Given the description of an element on the screen output the (x, y) to click on. 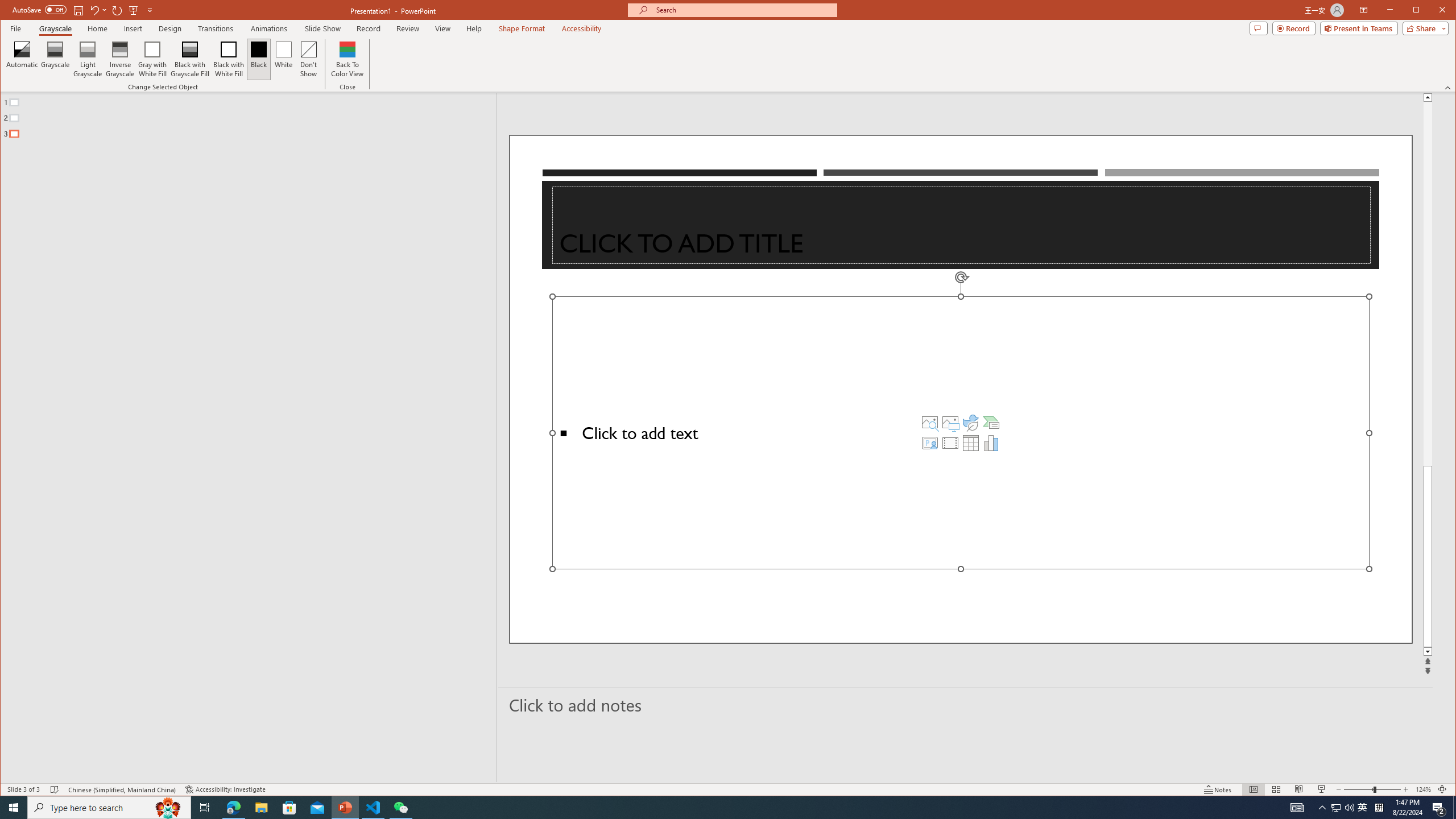
Shape Format (521, 28)
Black with White Fill (229, 59)
Record (1294, 28)
User Promoted Notification Area (1342, 807)
Insert Table (970, 443)
Accessibility (581, 28)
Visual Studio Code - 1 running window (373, 807)
Insert an Icon (970, 422)
Review (407, 28)
Type here to search (108, 807)
Line down (1427, 651)
Q2790: 100% (1349, 807)
Zoom In (1405, 789)
